Given the description of an element on the screen output the (x, y) to click on. 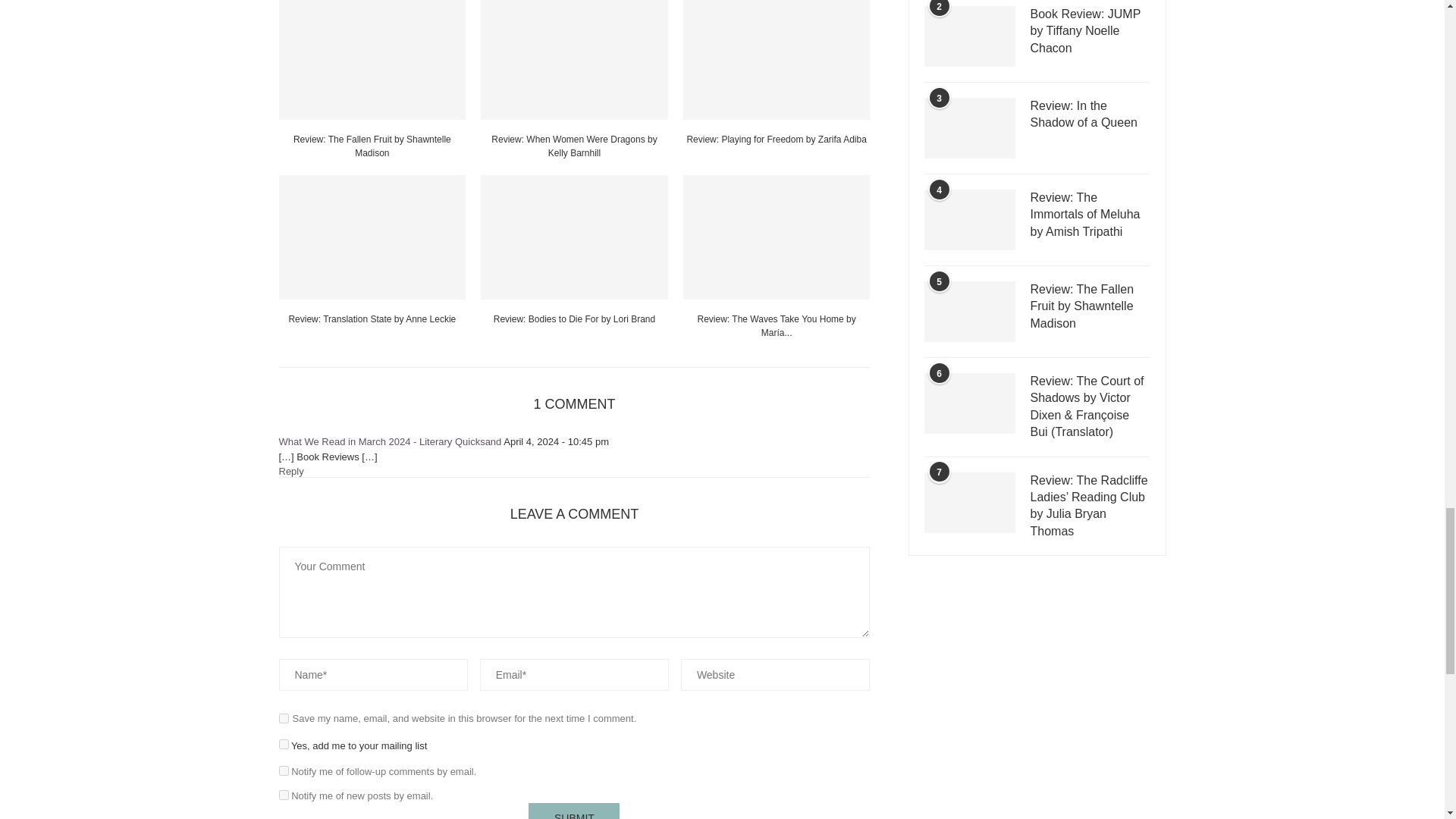
1 (283, 744)
Review: The Fallen Fruit by Shawntelle Madison (372, 59)
Review: Bodies to Die For by Lori Brand (574, 237)
Review: Playing for Freedom by Zarifa Adiba (776, 59)
subscribe (283, 795)
subscribe (283, 770)
Review: When Women Were Dragons by Kelly Barnhill (574, 59)
yes (283, 718)
Submit (574, 811)
Review: Translation State by Anne Leckie (372, 237)
